Given the description of an element on the screen output the (x, y) to click on. 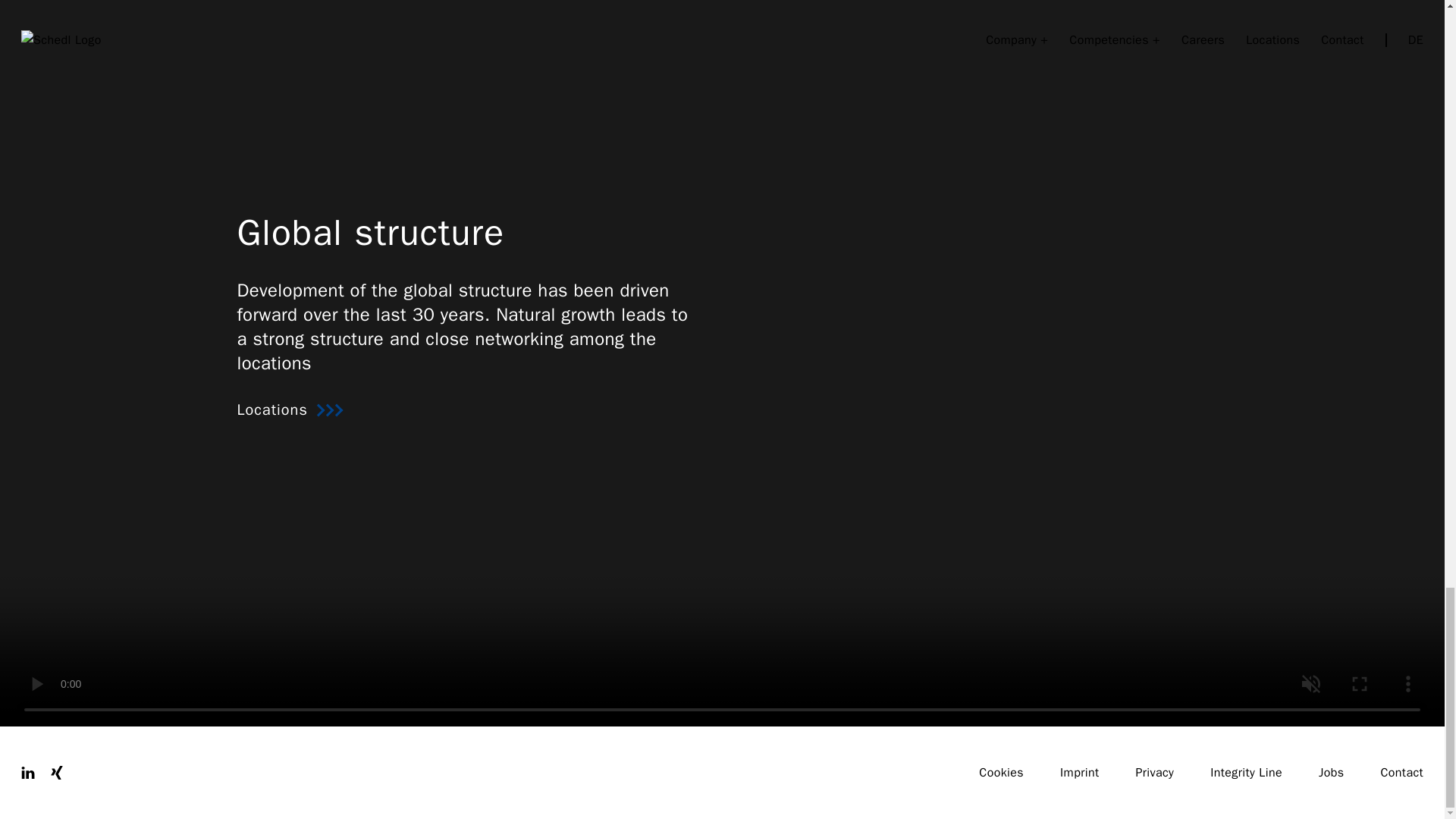
Imprint (1079, 772)
Contact (1401, 772)
Integrity Line (1245, 772)
Locations (466, 409)
Jobs (1331, 772)
Privacy (1154, 772)
